Given the description of an element on the screen output the (x, y) to click on. 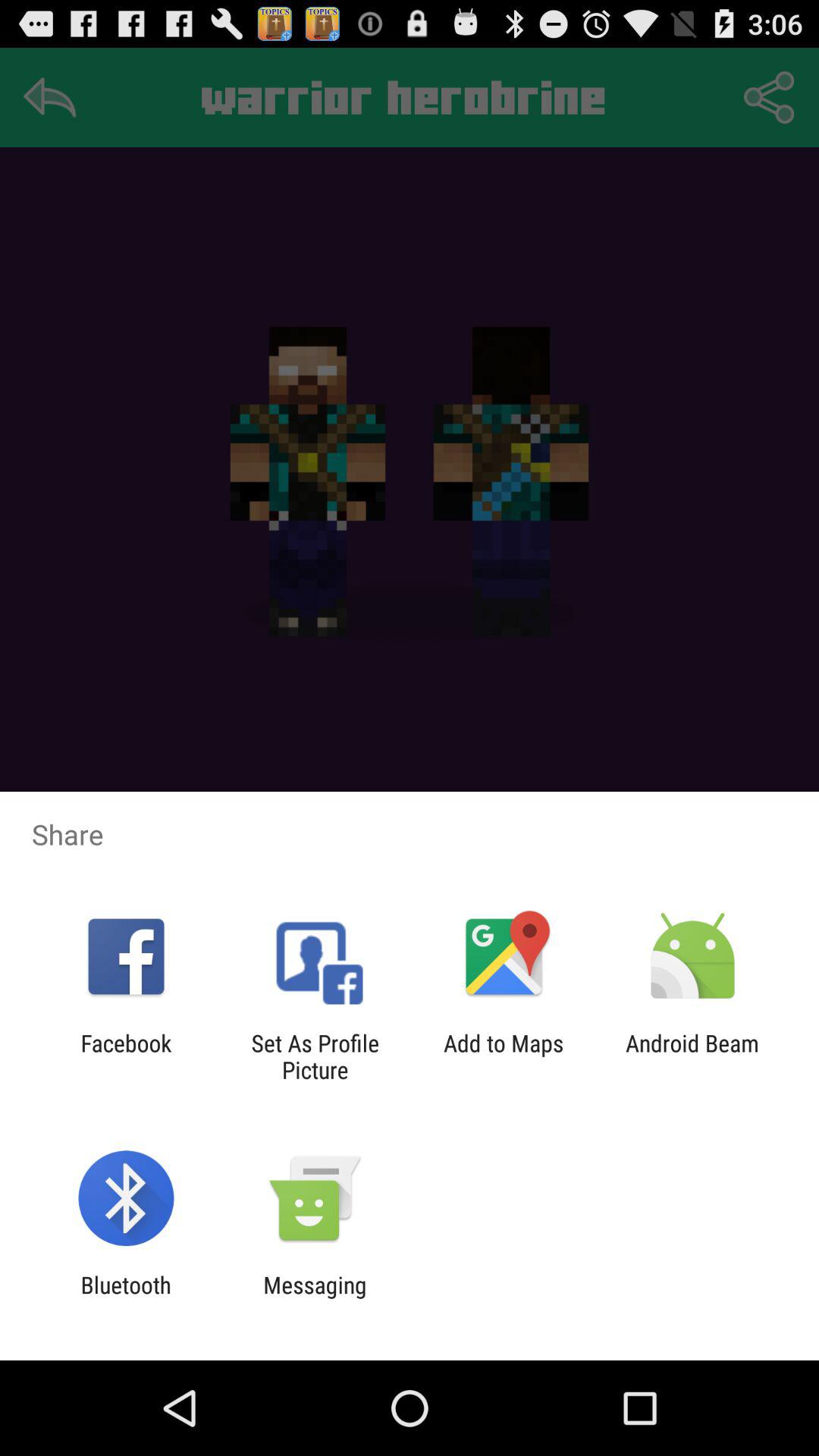
press app next to the bluetooth app (314, 1298)
